Given the description of an element on the screen output the (x, y) to click on. 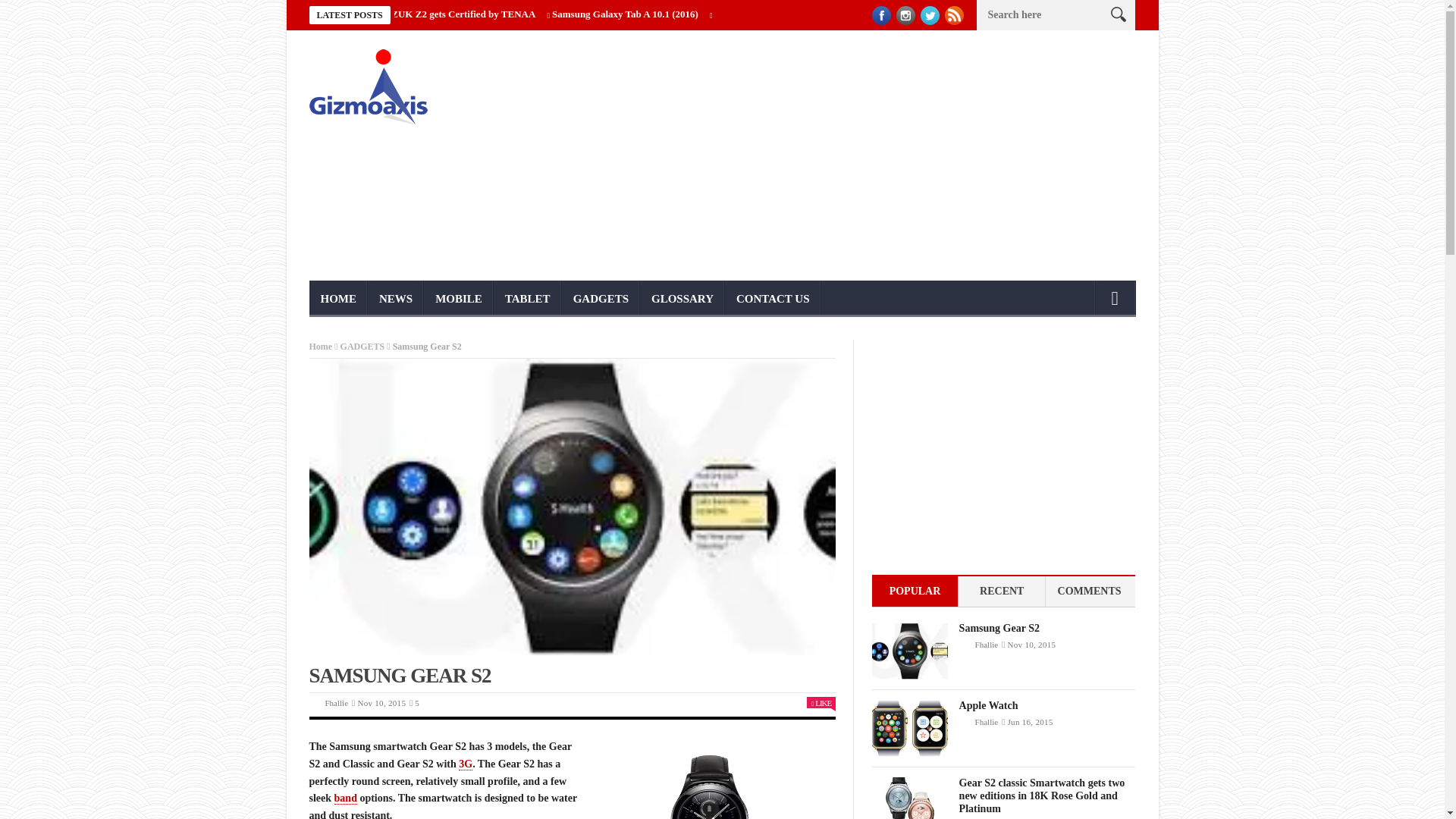
TABLET (527, 298)
Fhallie (335, 702)
gear-s2 (710, 778)
GADGETS (601, 298)
GADGETS (362, 346)
ZUK Z2 gets Certified by TENAA (463, 14)
Advertisement (863, 155)
MOBILE (458, 298)
5 (414, 702)
LIKE (820, 702)
GLOSSARY (682, 298)
3G (464, 764)
Like (820, 702)
NEWS (395, 298)
band (345, 798)
